Given the description of an element on the screen output the (x, y) to click on. 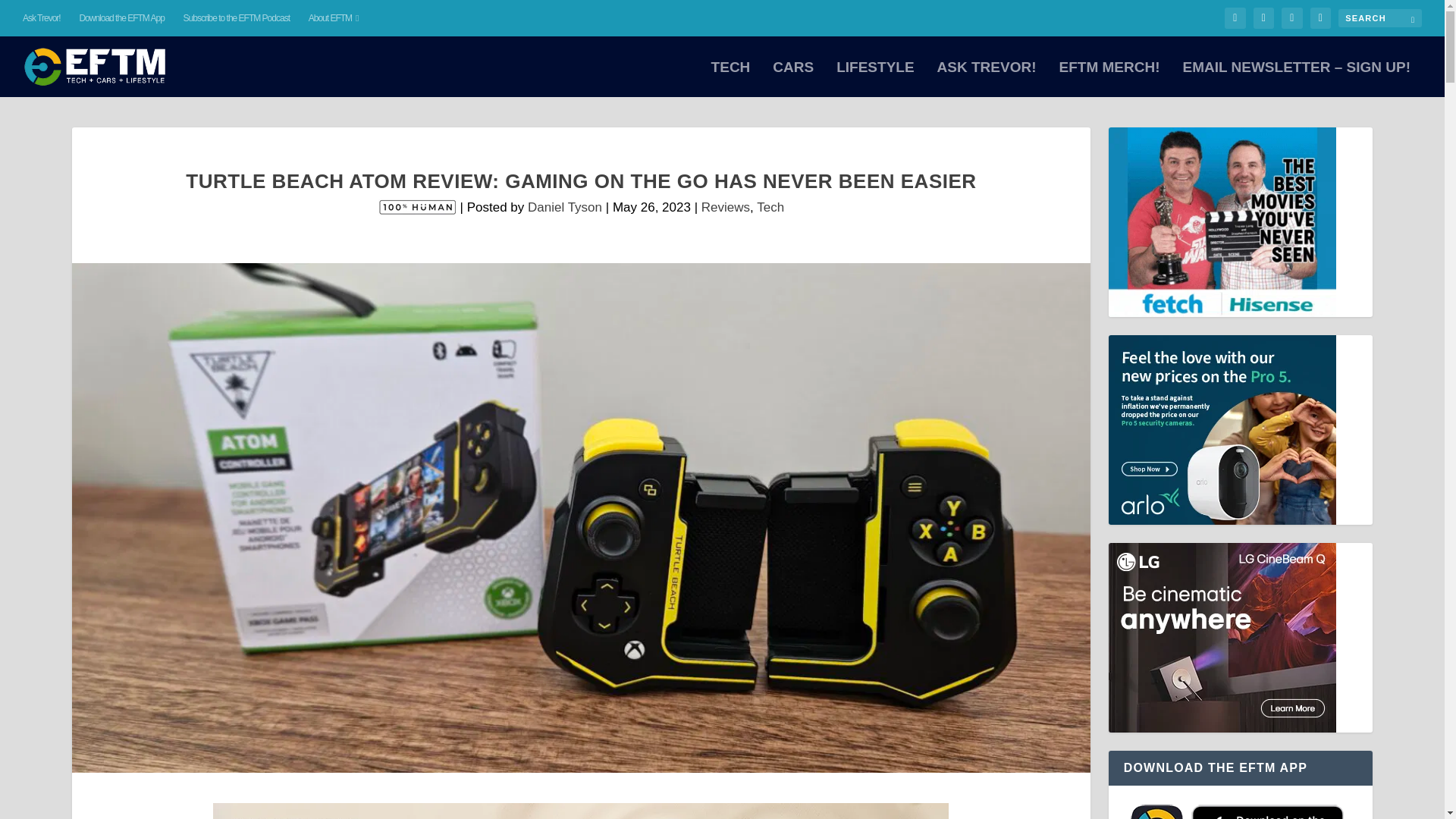
Search for: (1380, 18)
Posts by Daniel Tyson (564, 206)
LIFESTYLE (874, 79)
Reviews (725, 206)
Subscribe to the EFTM Podcast (236, 18)
EFTM MERCH! (1108, 79)
TECH (731, 79)
Daniel Tyson (564, 206)
ASK TREVOR! (986, 79)
CARS (793, 79)
Tech (770, 206)
Ask Trevor! (42, 18)
Download the EFTM App (120, 18)
About EFTM (333, 18)
